Given the description of an element on the screen output the (x, y) to click on. 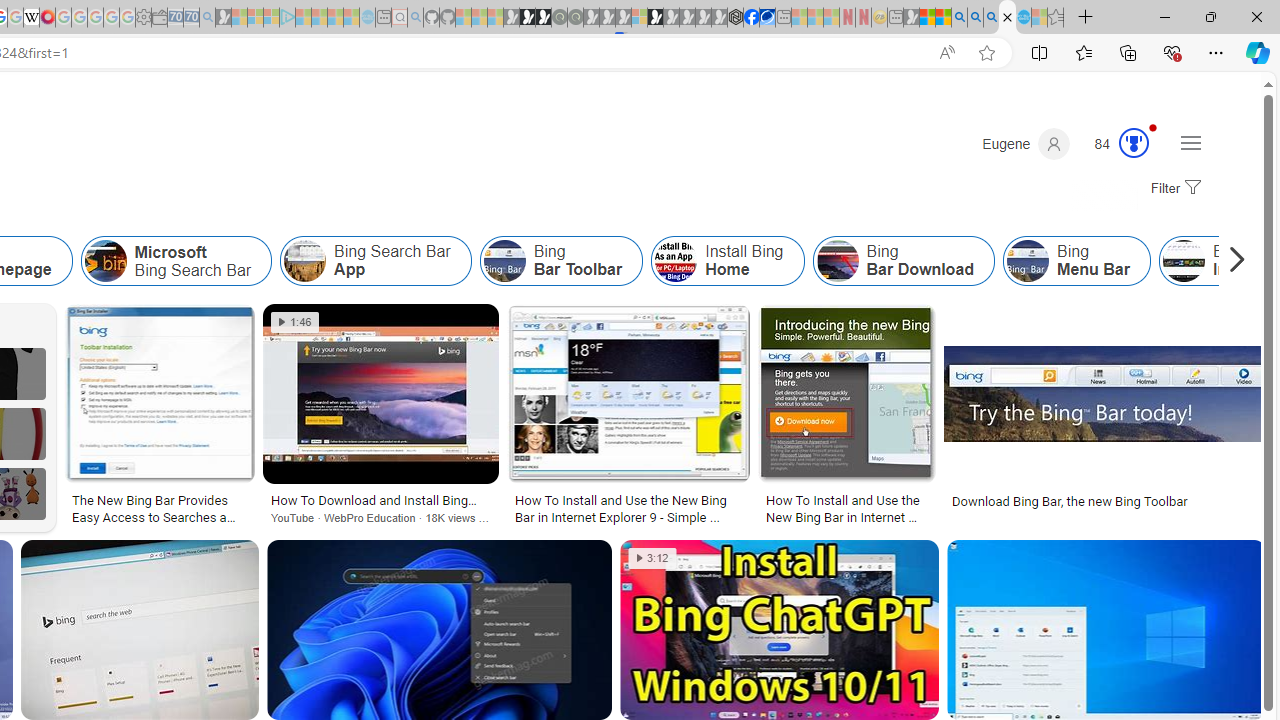
Bing Image Search Not Working (1183, 260)
Bing Menu Bar (1076, 260)
AutomationID: rh_meter (1133, 142)
Image result for Bing Search Bar Install (1106, 630)
AutomationID: serp_medal_svg (1133, 142)
2009 Bing officially replaced Live Search on June 3 - Search (975, 17)
Microsoft Rewards 84 (1115, 143)
